Given the description of an element on the screen output the (x, y) to click on. 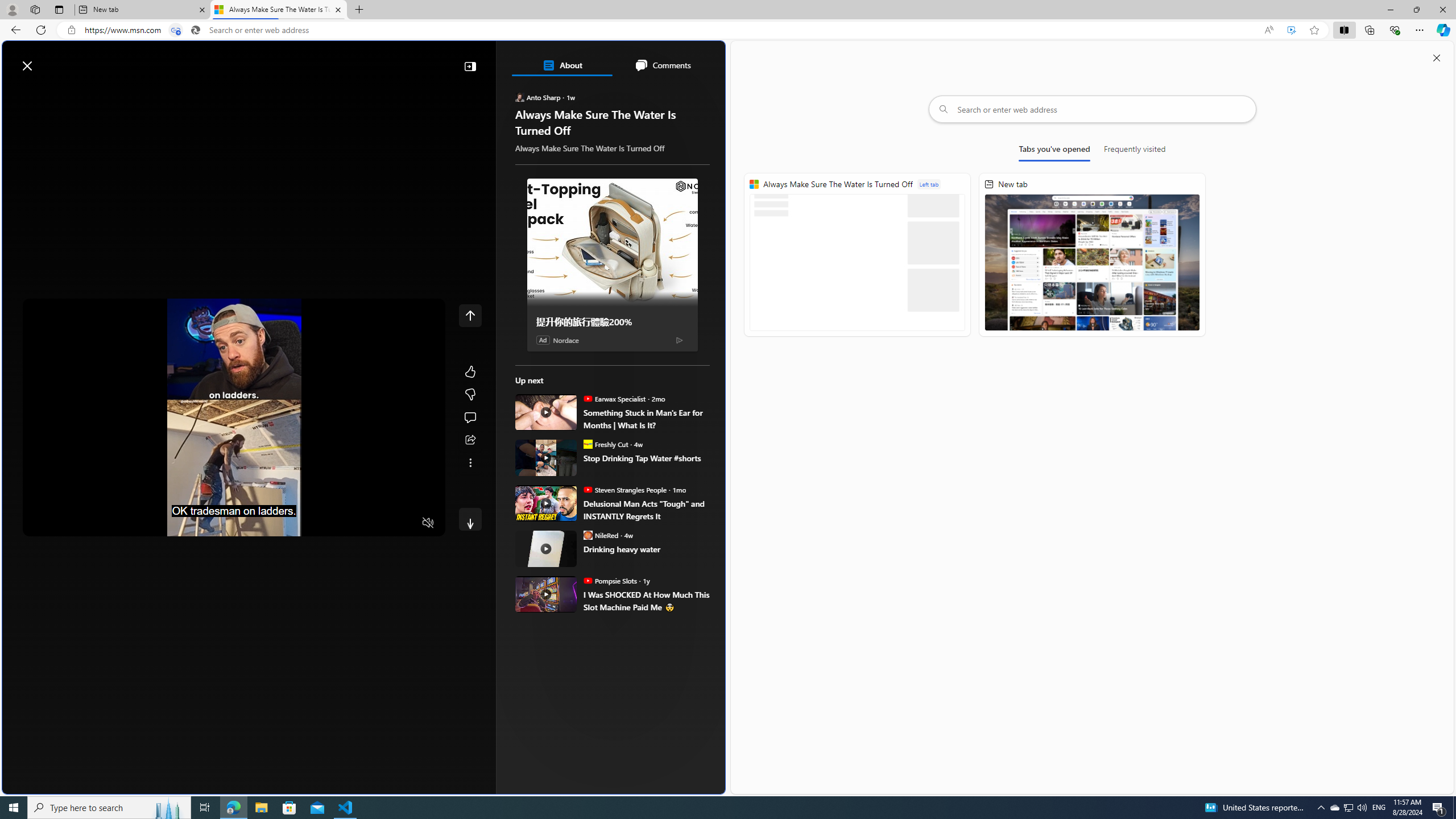
Copilot (Ctrl+Shift+.) (1442, 29)
Outlook (1442, 98)
Following (97, 92)
View site information (70, 29)
Close (1442, 9)
Open Copilot (565, 59)
Split screen (1344, 29)
Open settings (699, 60)
Steven Strangles People (587, 488)
Settings and more (Alt+F) (1419, 29)
See more (469, 462)
Pause (39, 523)
Like (469, 371)
Captions (383, 523)
